Given the description of an element on the screen output the (x, y) to click on. 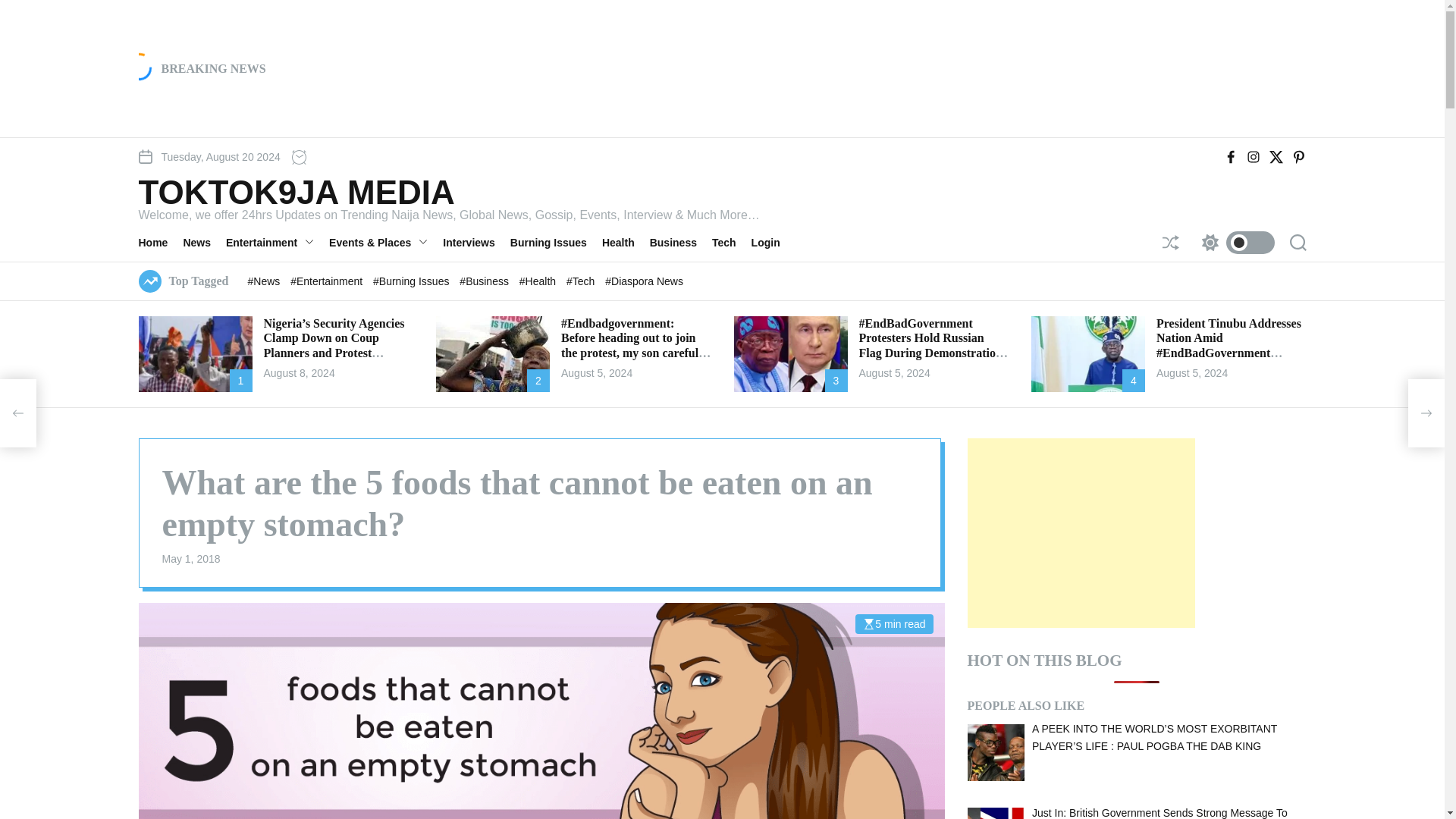
Instagram (1252, 156)
Tech (731, 242)
Interviews (475, 242)
Health (625, 242)
Entertainment (277, 242)
Facebook (1230, 156)
Home (160, 242)
News (204, 242)
Burning Issues (556, 242)
TOKTOK9JA MEDIA (448, 192)
